Given the description of an element on the screen output the (x, y) to click on. 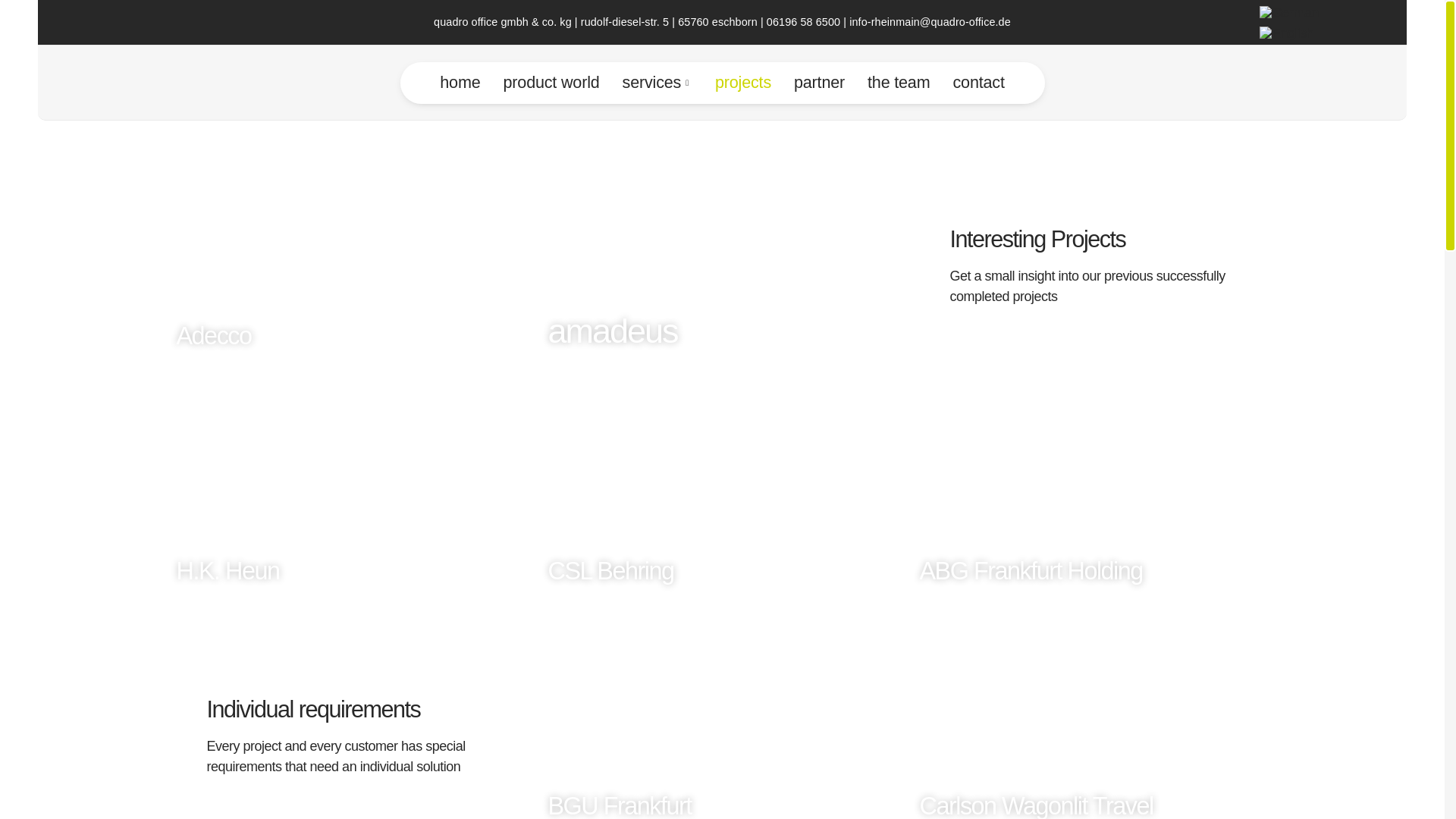
home (460, 83)
contact (977, 83)
H.K. Heun (350, 476)
Carlson Wagonlit Travel (1093, 708)
Adecco (350, 241)
the team (898, 83)
CSL Behring (722, 476)
ABG Frankfurt Holding (1093, 476)
projects (743, 83)
product world (551, 83)
BGU Frankfurt (722, 708)
services (657, 83)
partner (819, 83)
amadeus (722, 241)
